Given the description of an element on the screen output the (x, y) to click on. 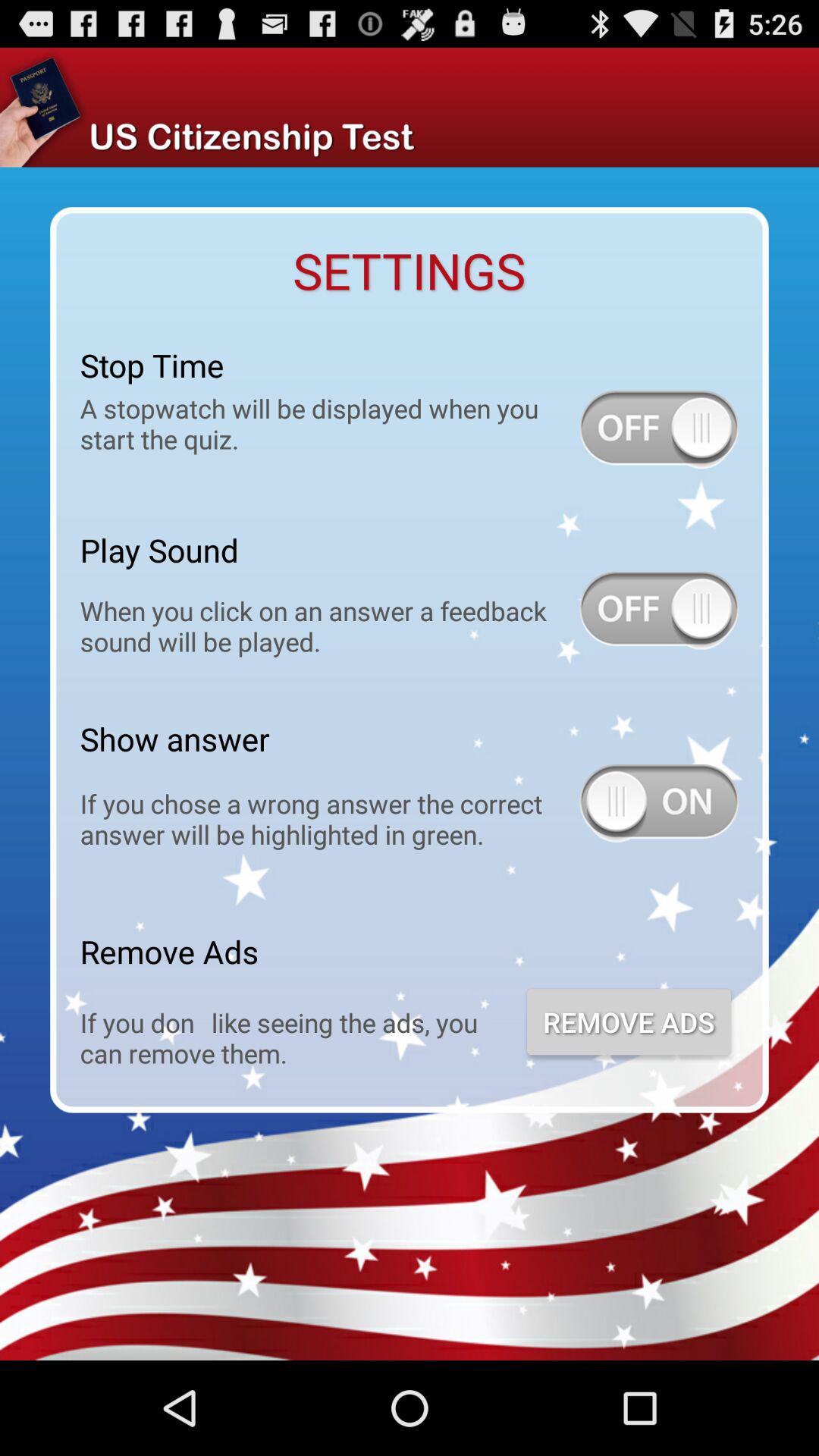
toggle stop time (658, 429)
